Given the description of an element on the screen output the (x, y) to click on. 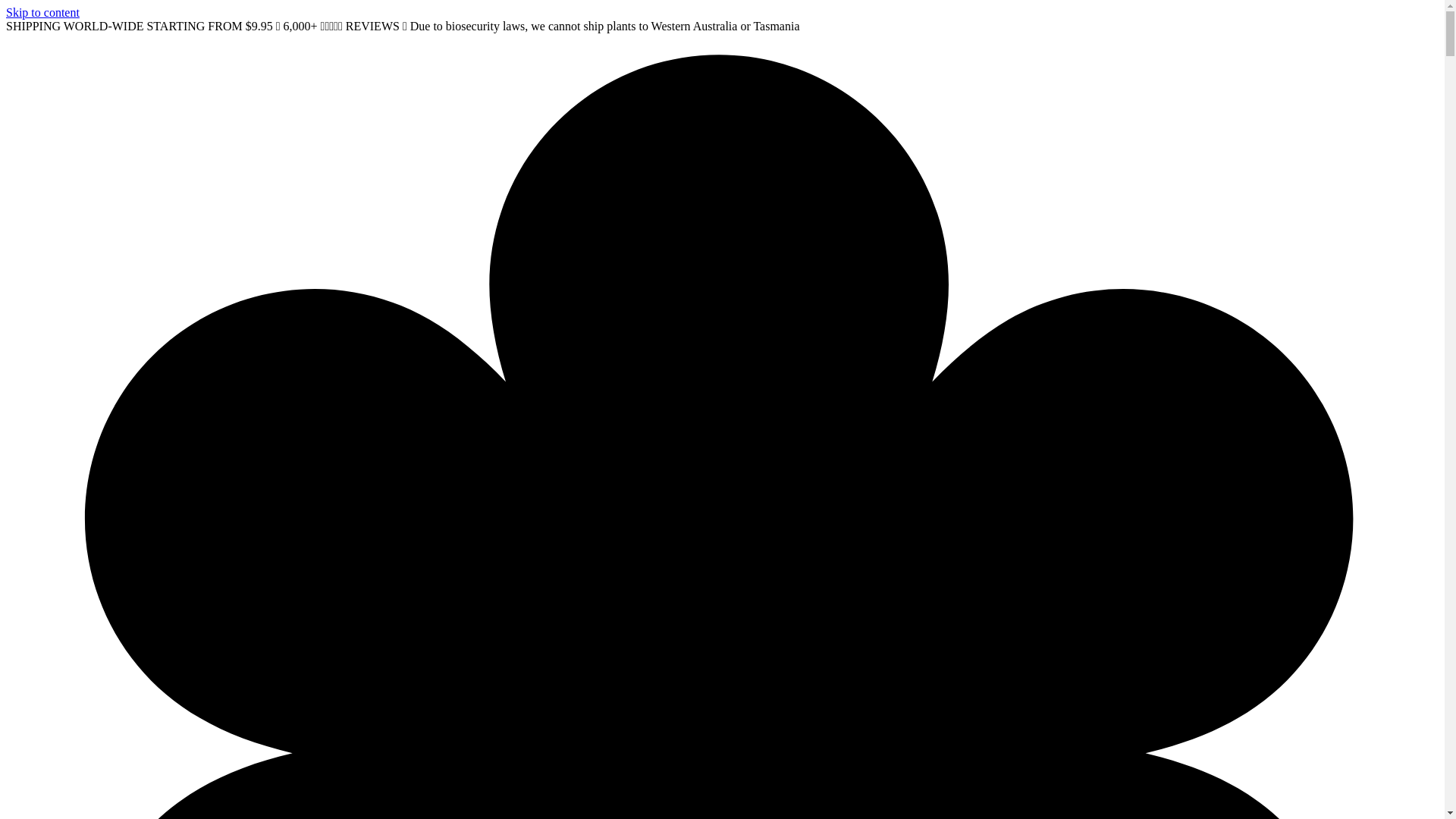
Skip to content Element type: text (42, 12)
